Given the description of an element on the screen output the (x, y) to click on. 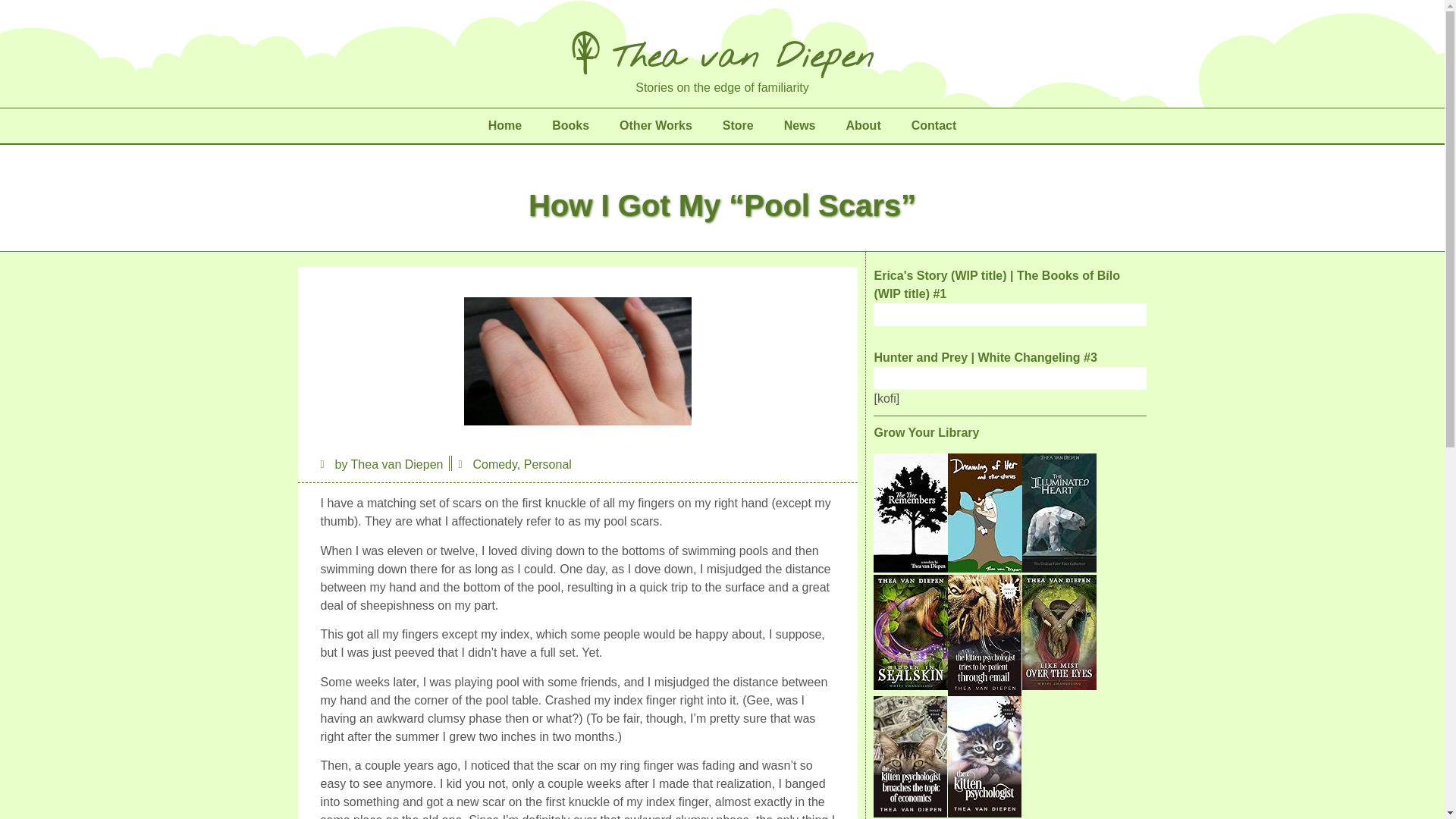
Books (570, 125)
Dreaming of Her and Other Stories (984, 567)
Contact (934, 125)
Thea van Diepen (721, 54)
Other Works (655, 125)
The Kitten Psychologist (984, 812)
The Tree Remembers (910, 567)
Store (737, 125)
The Kitten Psychologist Broaches the Topic of Economics (910, 812)
Home (505, 125)
